Given the description of an element on the screen output the (x, y) to click on. 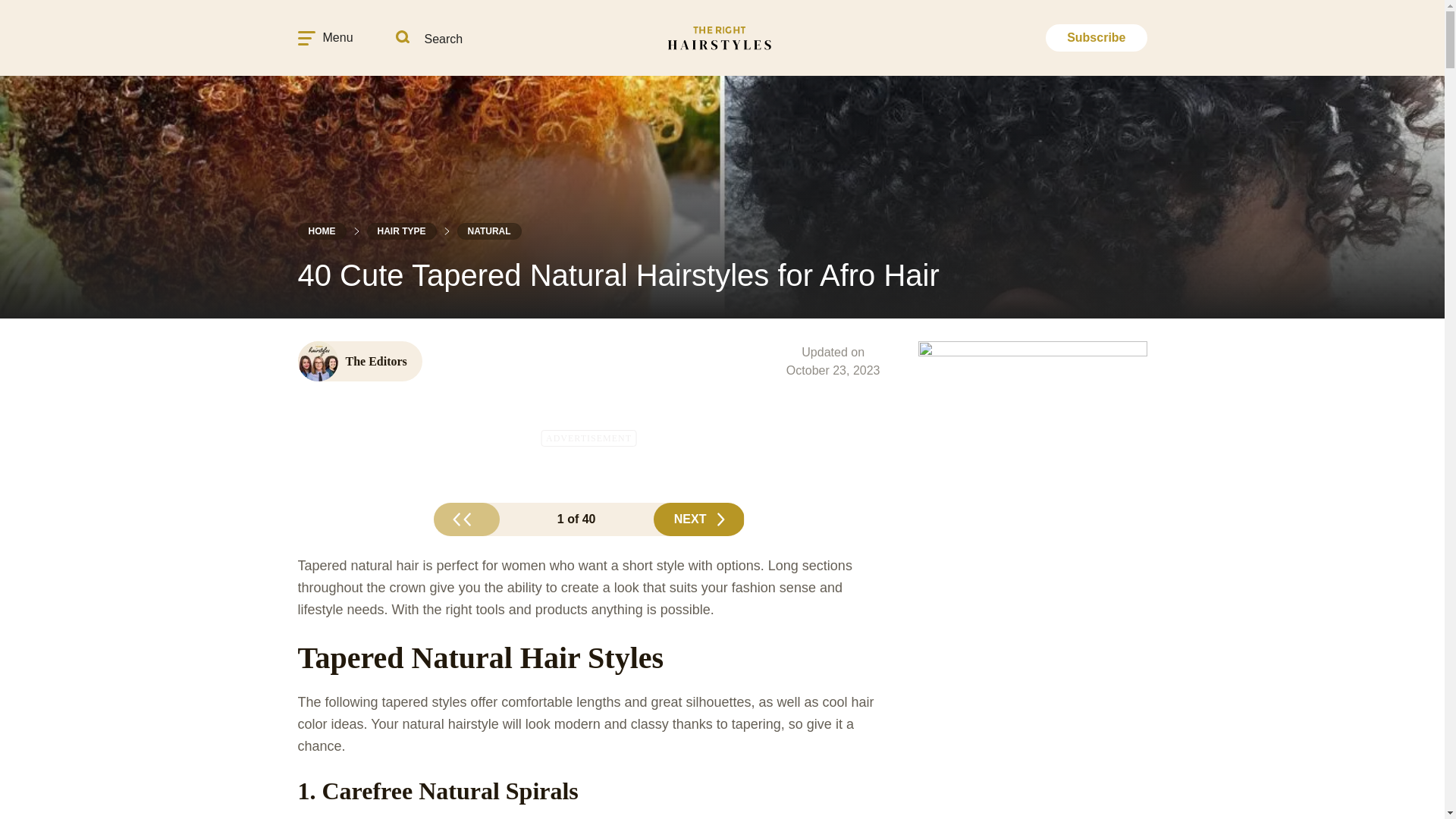
NEXT (698, 519)
HOME (321, 230)
NATURAL (489, 230)
HAIR TYPE (401, 230)
Subscribe (1096, 37)
